Given the description of an element on the screen output the (x, y) to click on. 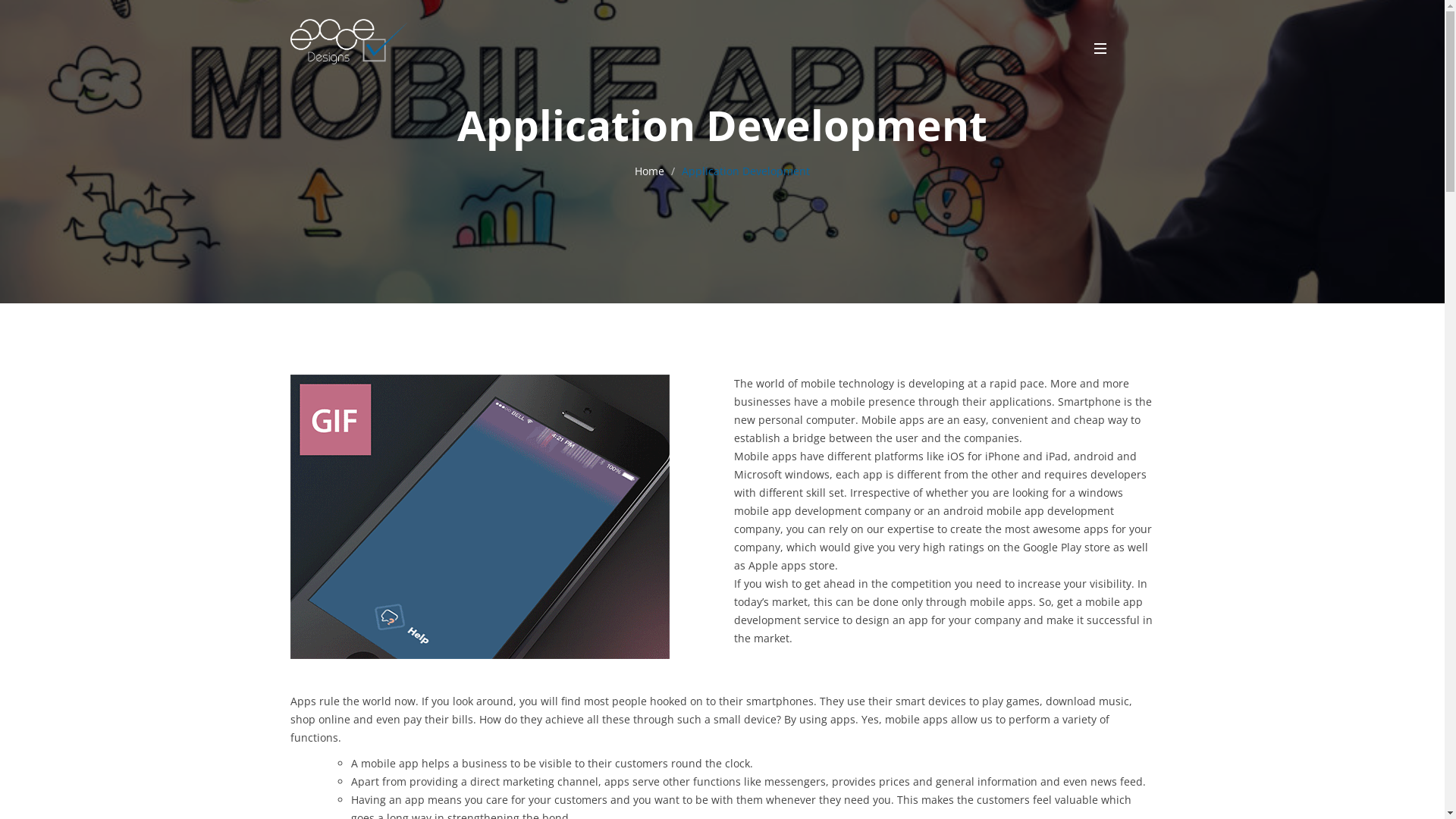
Menu Element type: hover (1097, 49)
Home Element type: text (649, 170)
